Given the description of an element on the screen output the (x, y) to click on. 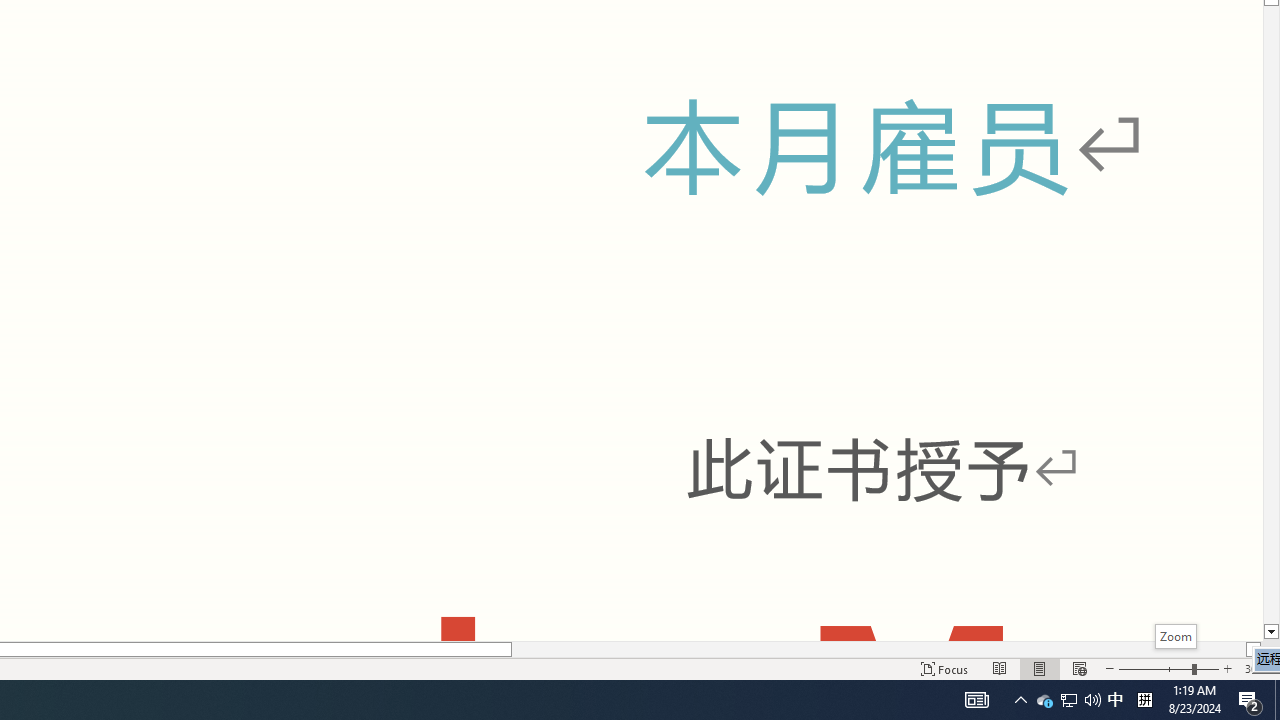
Page right (878, 649)
Column right (1254, 649)
Zoom 308% (1258, 668)
Line down (1271, 632)
Page down (1271, 314)
